Given the description of an element on the screen output the (x, y) to click on. 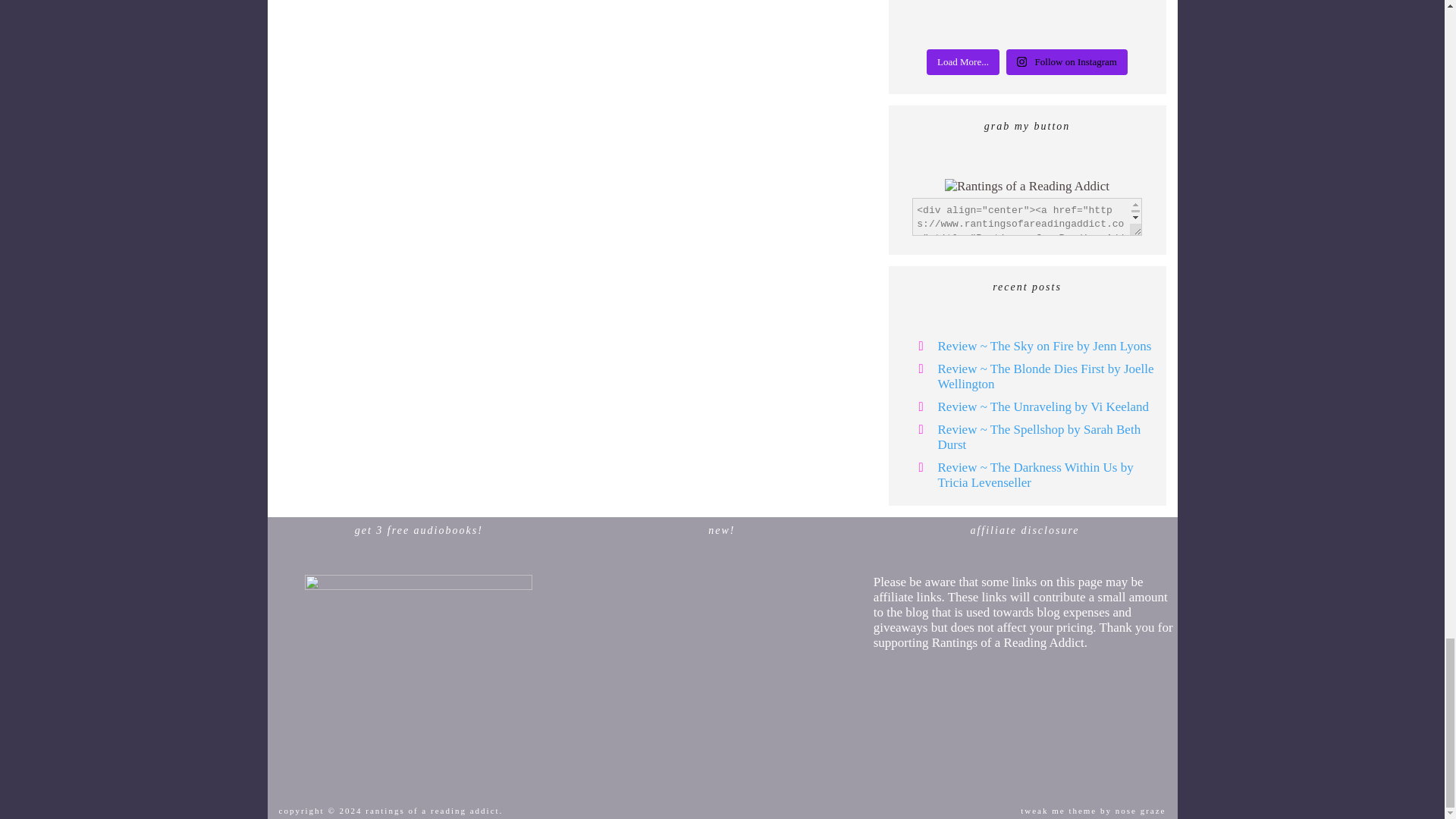
Rantings of a Reading Addict (1026, 186)
